Given the description of an element on the screen output the (x, y) to click on. 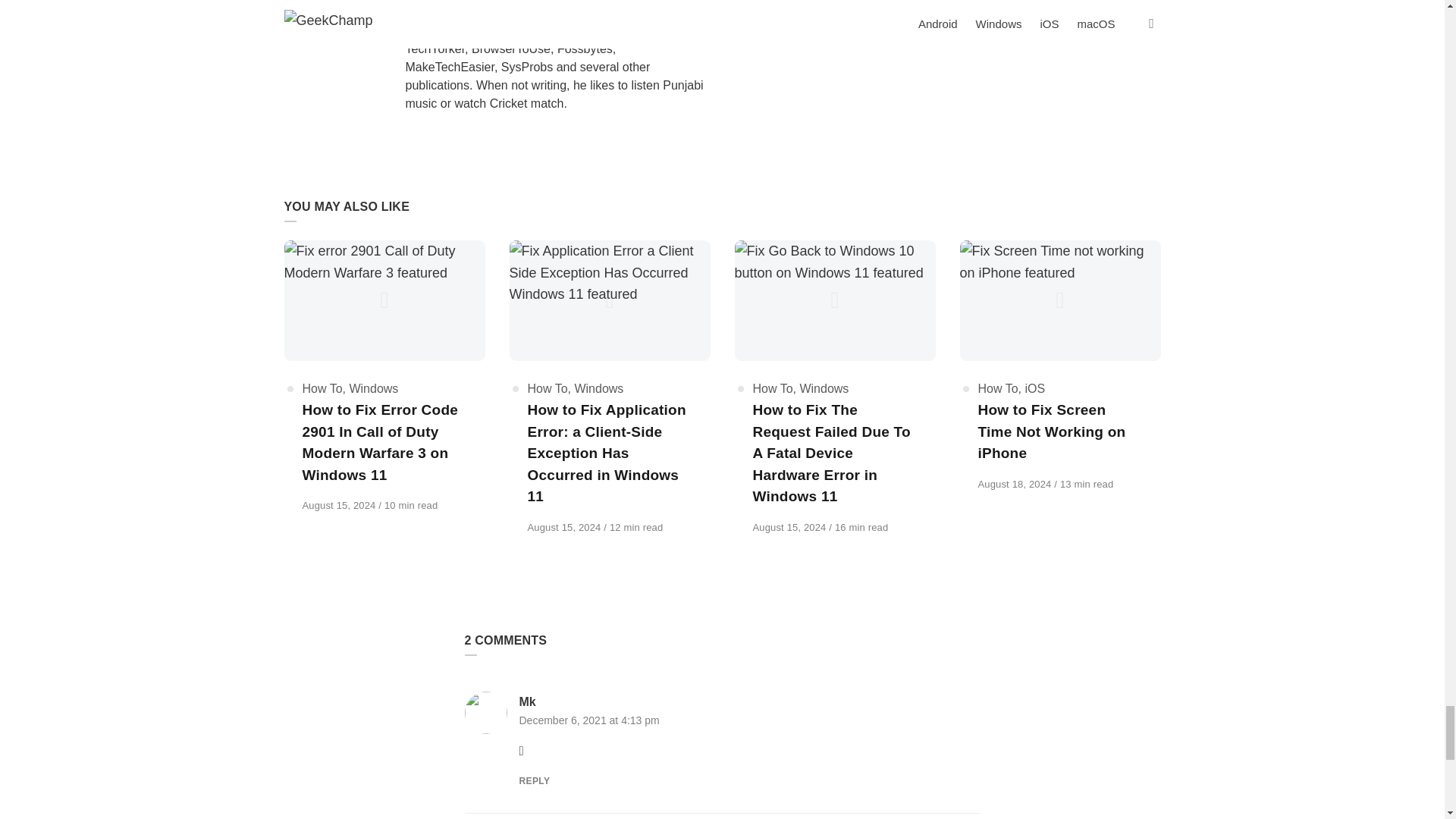
How To (321, 388)
August 15, 2024 (339, 505)
Windows (373, 388)
